Given the description of an element on the screen output the (x, y) to click on. 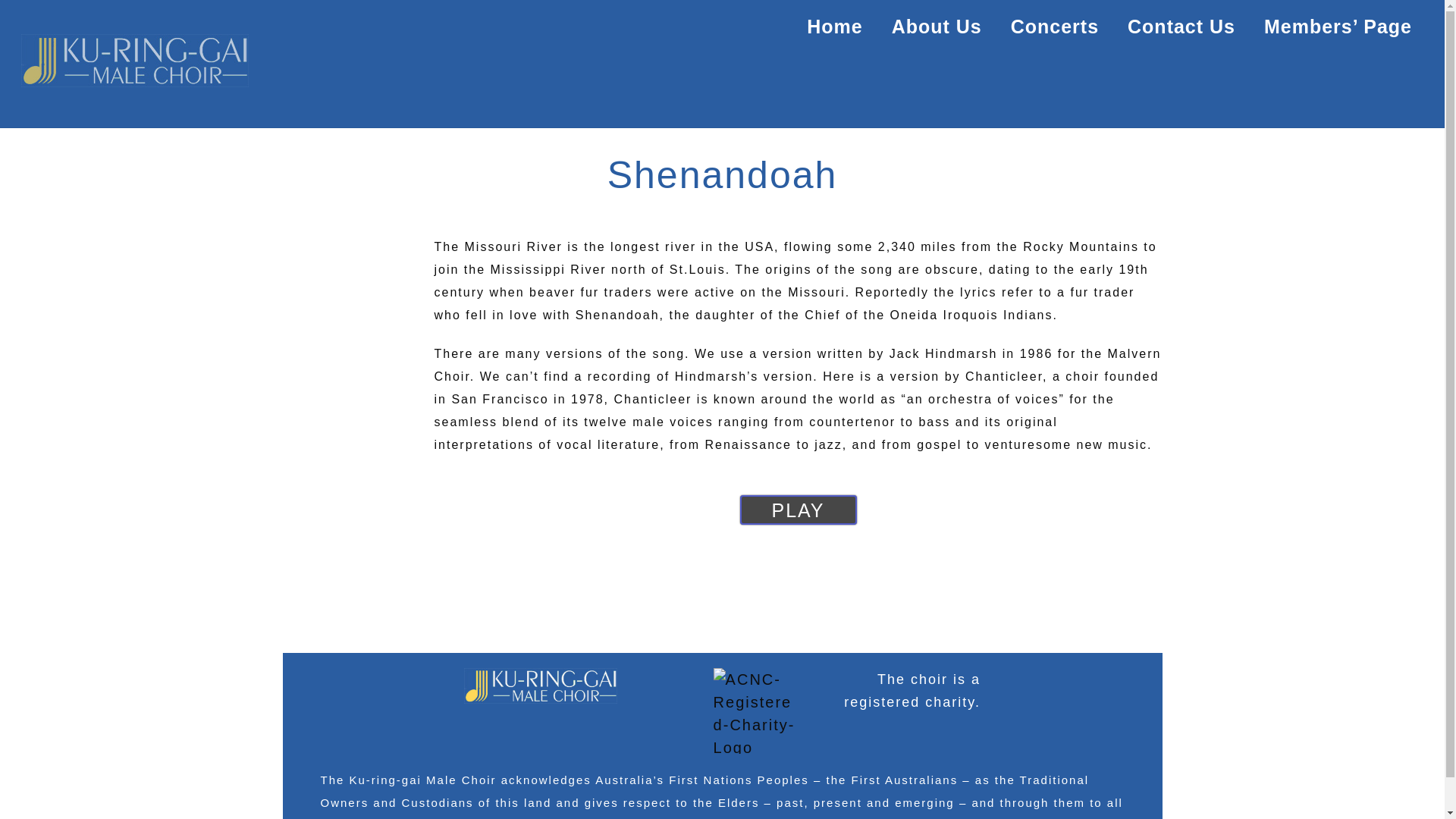
Concerts Element type: text (1054, 26)
ACNC-Registered-Charity-Logo SMALL Element type: hover (756, 710)
Contact Us Element type: text (1181, 26)
Logo Blue 2 Element type: hover (540, 685)
Logo Blue 2 Element type: hover (134, 60)
Home Element type: text (834, 26)
About Us Element type: text (936, 26)
PLAY Element type: text (798, 509)
